Given the description of an element on the screen output the (x, y) to click on. 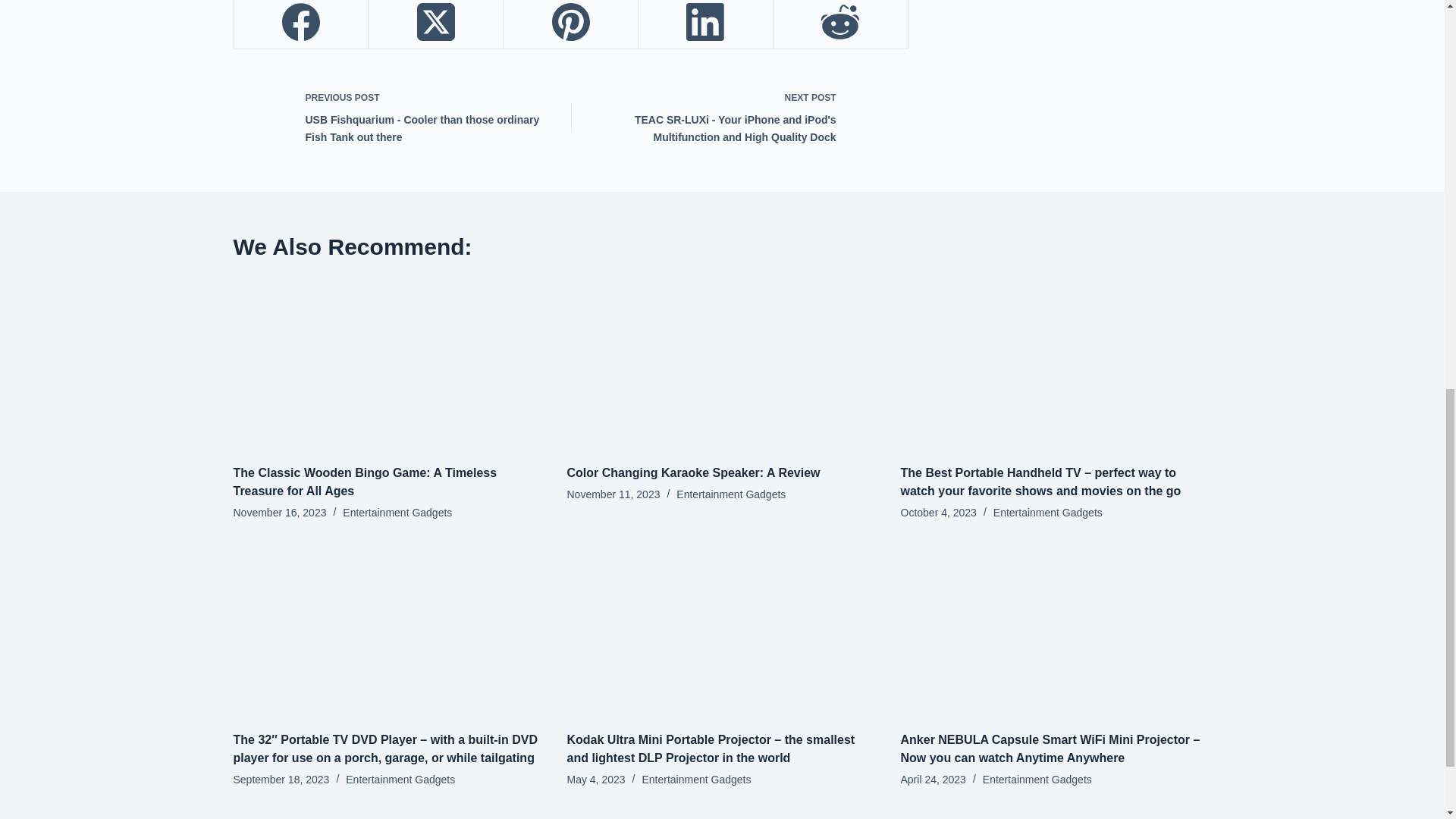
Entertainment Gadgets (396, 512)
